Given the description of an element on the screen output the (x, y) to click on. 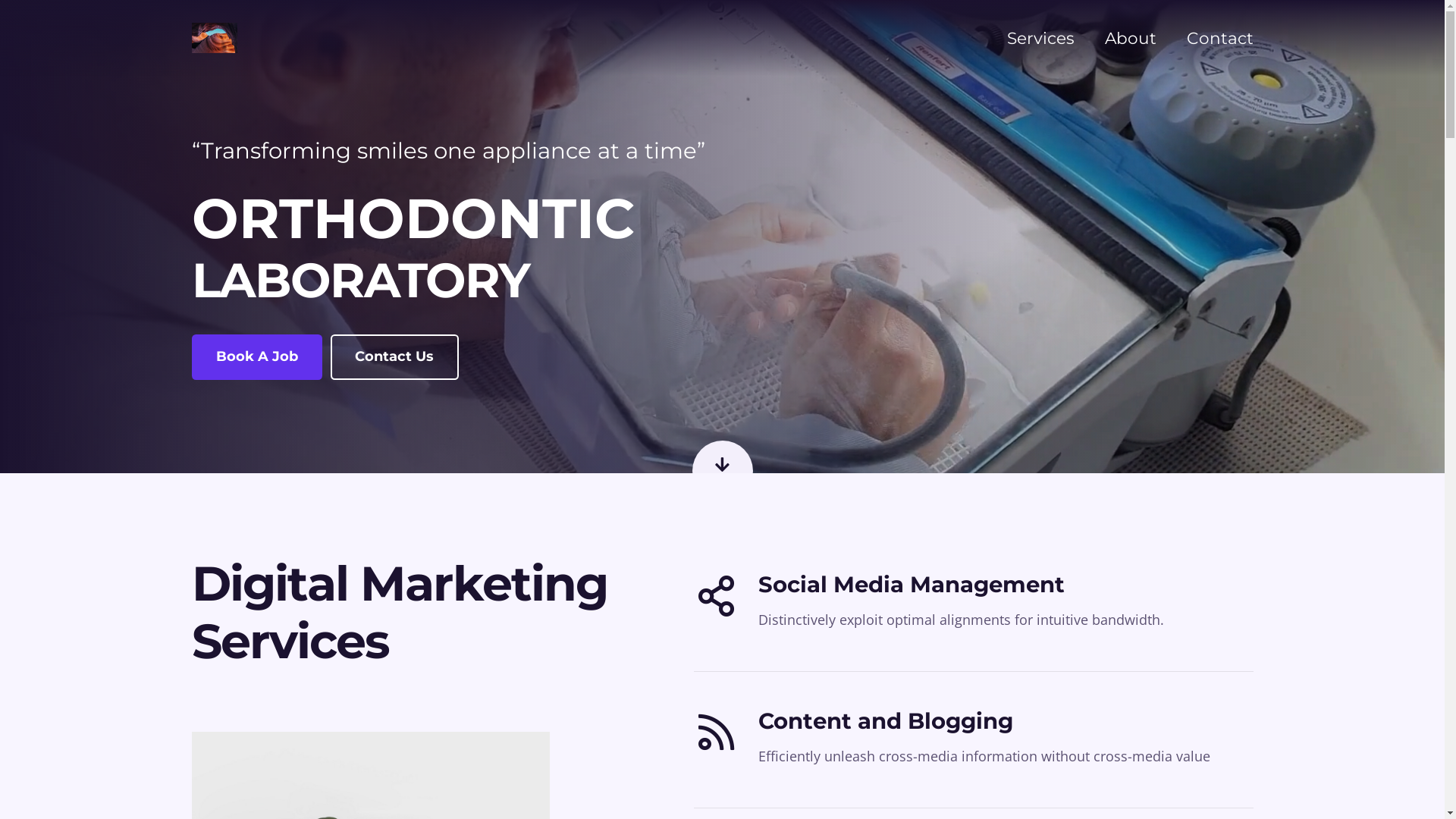
Book A Job Element type: text (256, 356)
Contact Us Element type: text (394, 356)
Services Element type: text (1040, 37)
About Element type: text (1129, 37)
Contact Element type: text (1218, 37)
